Given the description of an element on the screen output the (x, y) to click on. 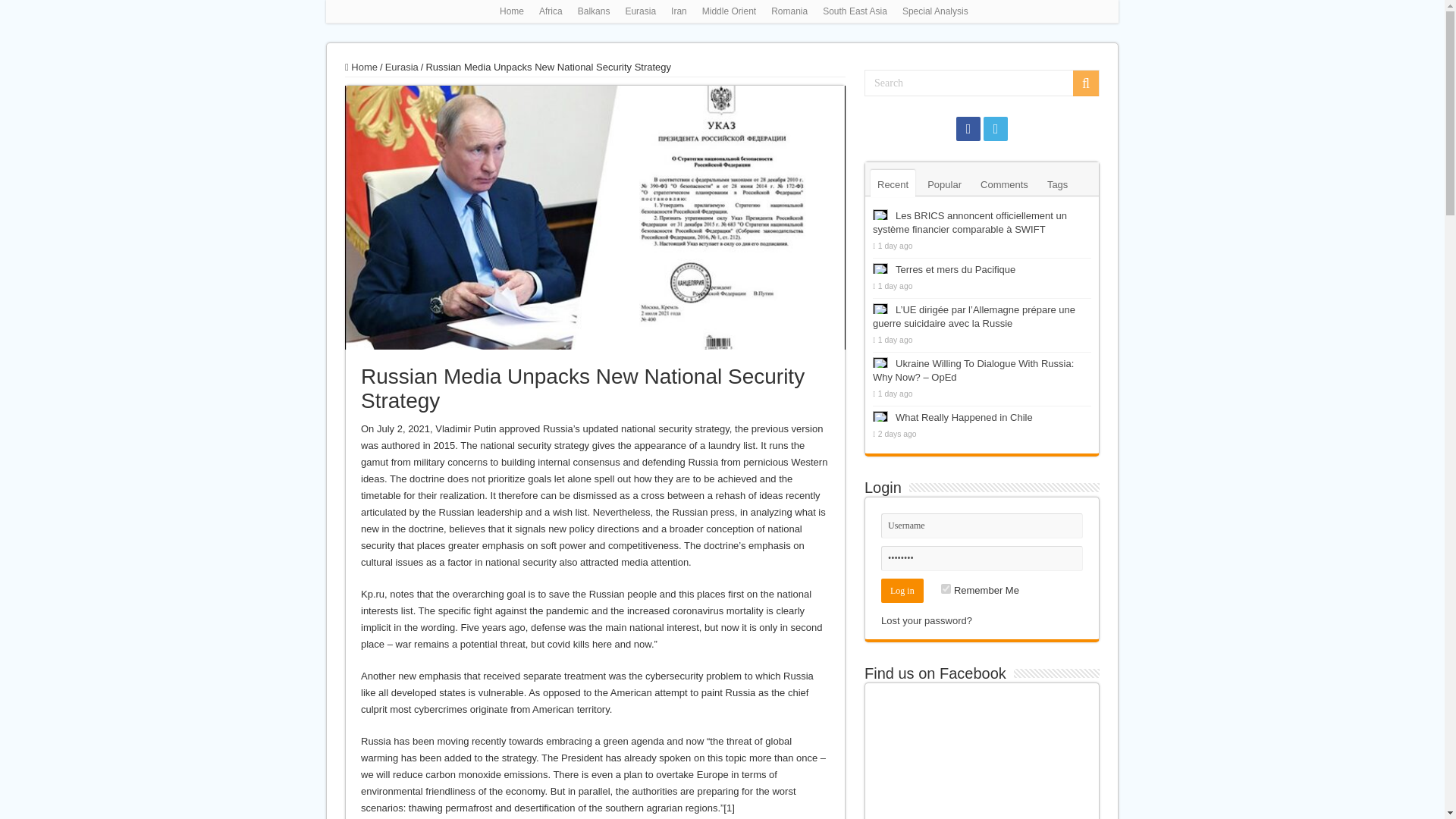
Facebook (967, 128)
Terres et mers du Pacifique (954, 269)
Popular (944, 183)
Special Analysis (935, 11)
Username (981, 525)
Home (361, 66)
Search (1086, 83)
South East Asia (855, 11)
Middle Orient (728, 11)
Tags (1057, 183)
Iran (678, 11)
Balkans (593, 11)
Home (511, 11)
forever (945, 588)
Twitter (995, 128)
